Given the description of an element on the screen output the (x, y) to click on. 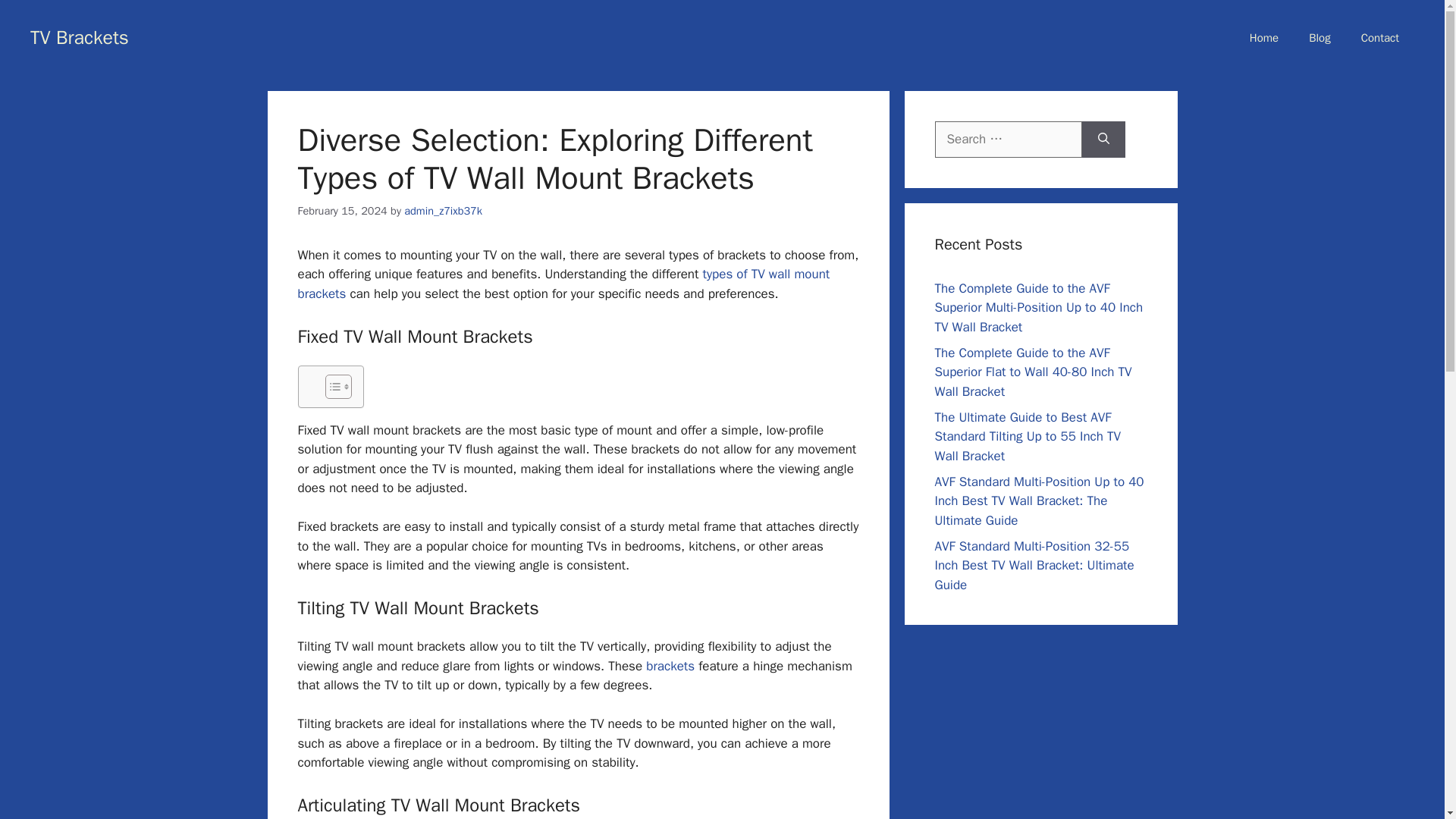
brackets (670, 666)
Search for: (1007, 139)
Home (1264, 37)
Blog (1319, 37)
types of TV wall mount brackets (563, 284)
TV Brackets (79, 37)
